Given the description of an element on the screen output the (x, y) to click on. 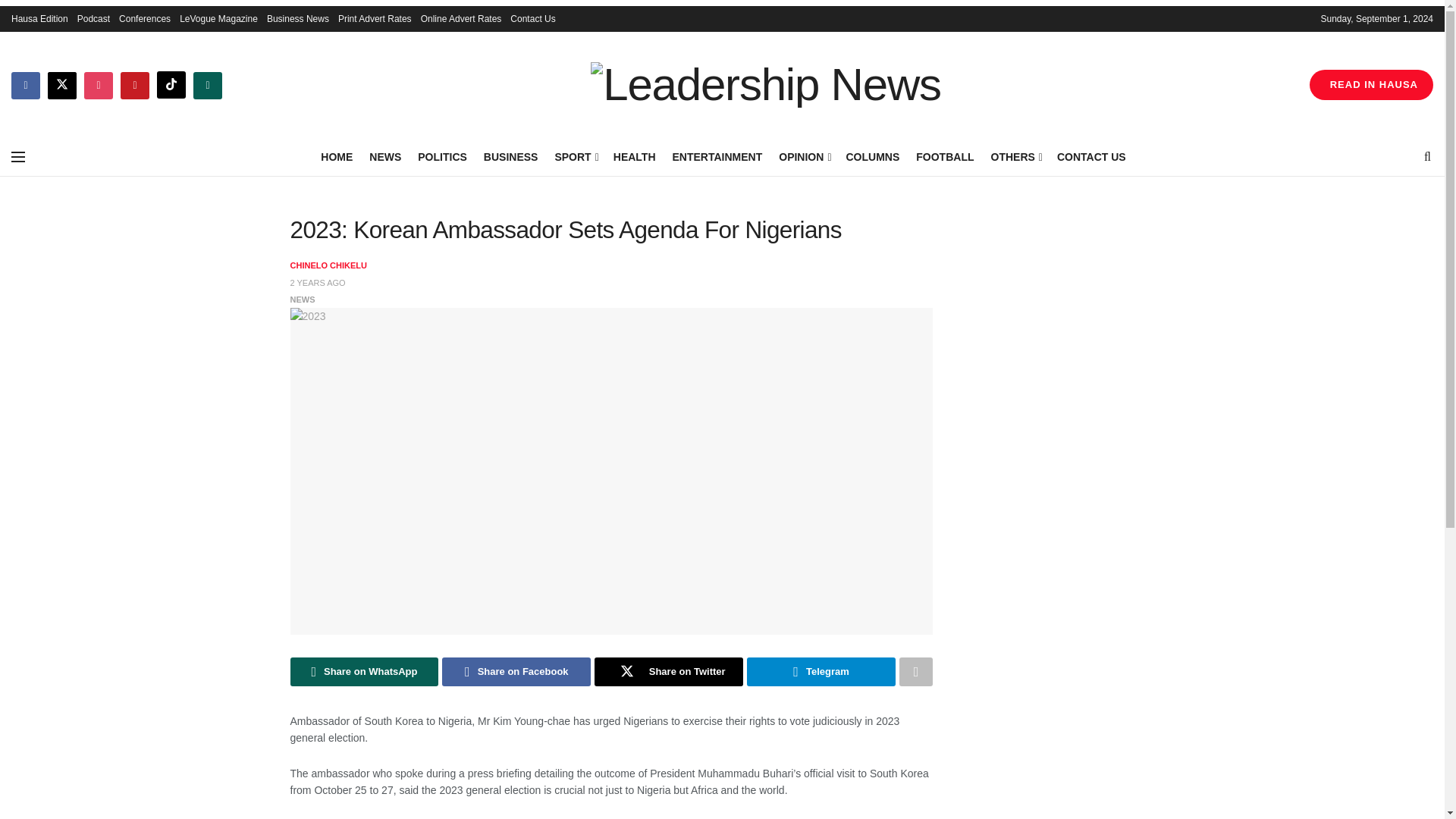
Conferences (144, 18)
Online Advert Rates (461, 18)
OTHERS (1014, 156)
COLUMNS (872, 156)
BUSINESS (510, 156)
READ IN HAUSA (1370, 84)
Contact Us (532, 18)
ENTERTAINMENT (717, 156)
Podcast (93, 18)
NEWS (385, 156)
